Given the description of an element on the screen output the (x, y) to click on. 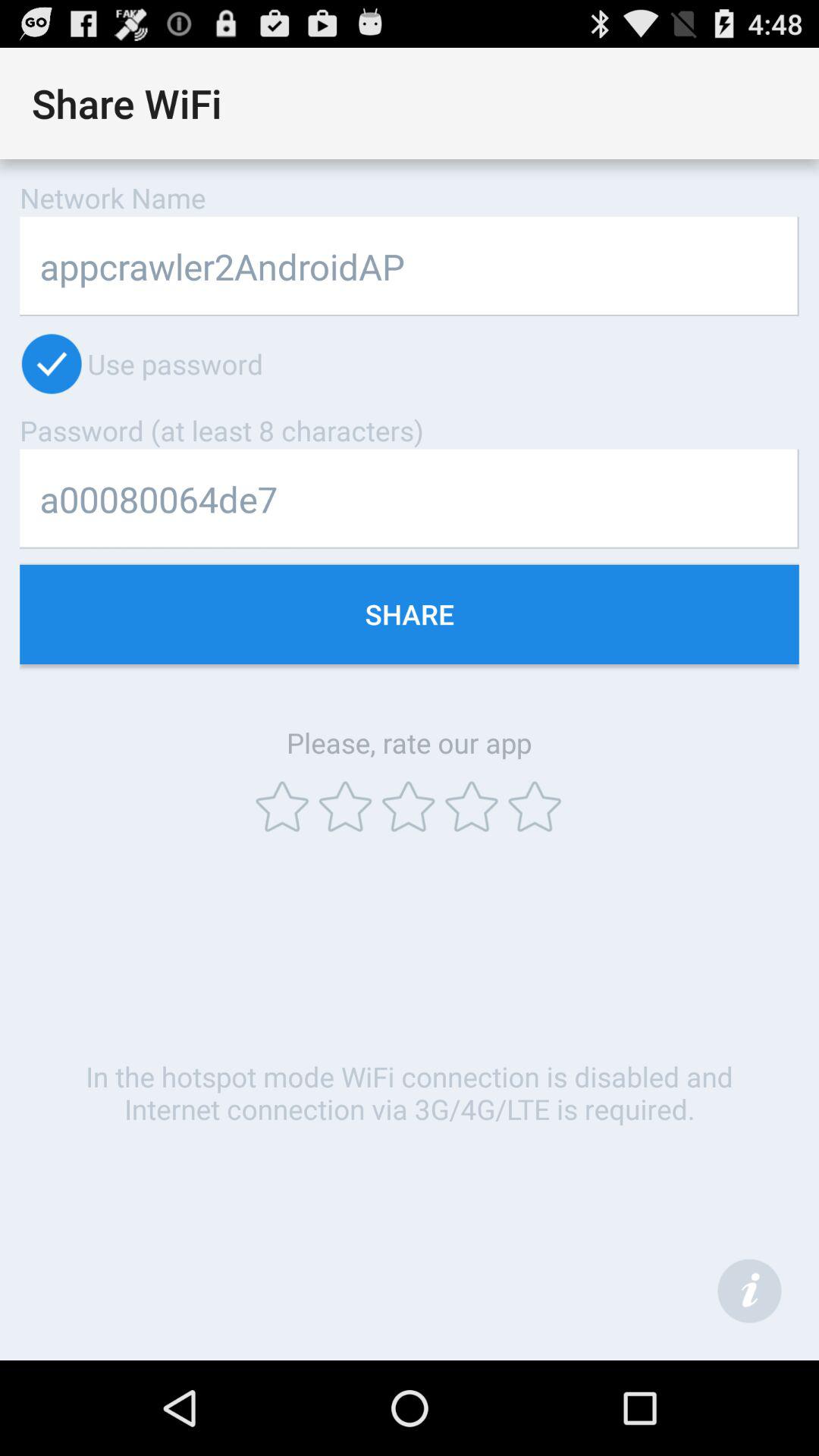
click the a00080064de7 icon (409, 498)
